Given the description of an element on the screen output the (x, y) to click on. 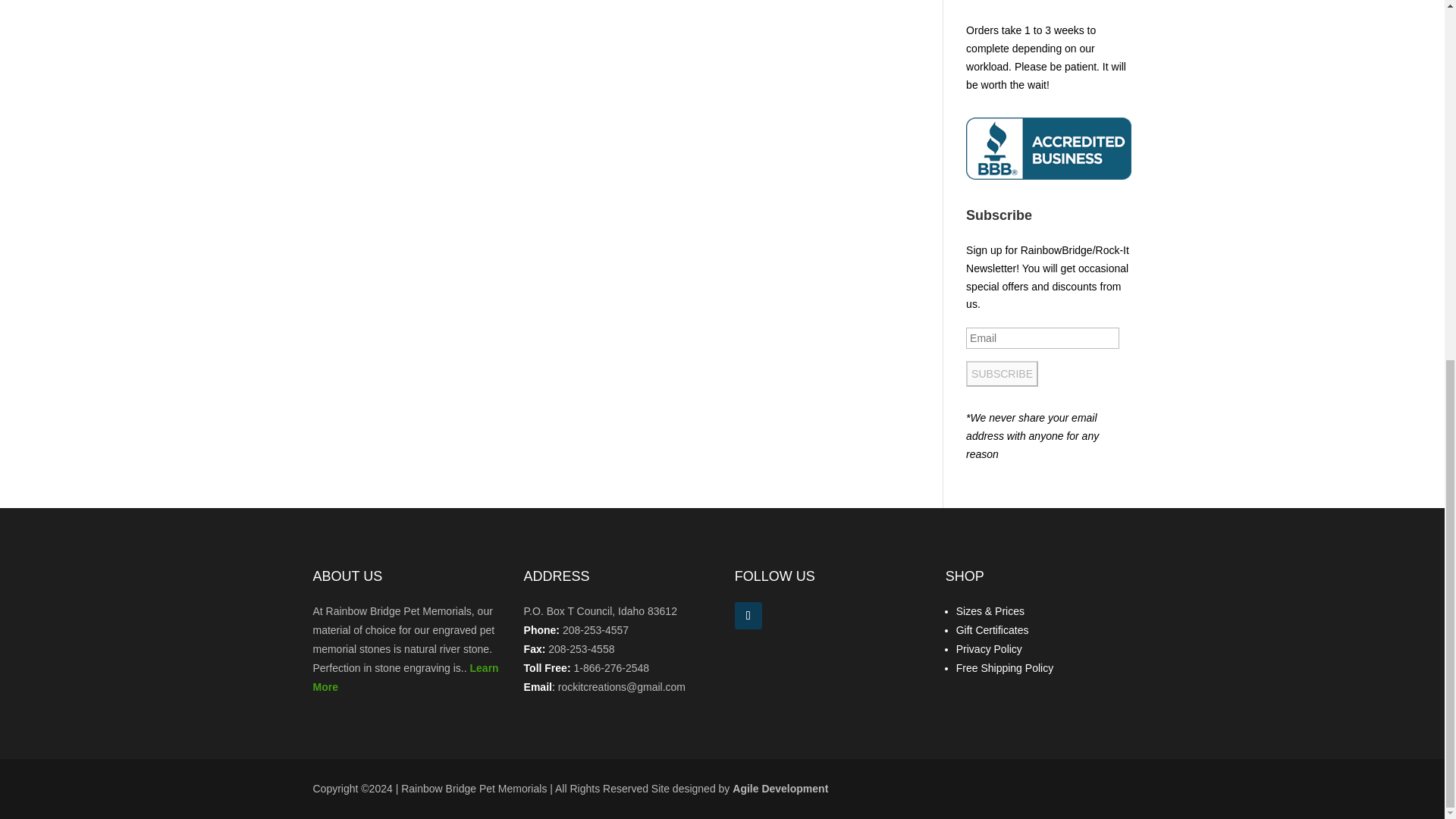
Agile Development (780, 788)
To About Us (405, 676)
Subscribe (1002, 373)
Gift Certificates (992, 630)
Learn More (405, 676)
Free Shipping Policy (1004, 667)
Follow on Facebook (748, 615)
Subscribe (1002, 373)
Privacy Policy (989, 648)
